Given the description of an element on the screen output the (x, y) to click on. 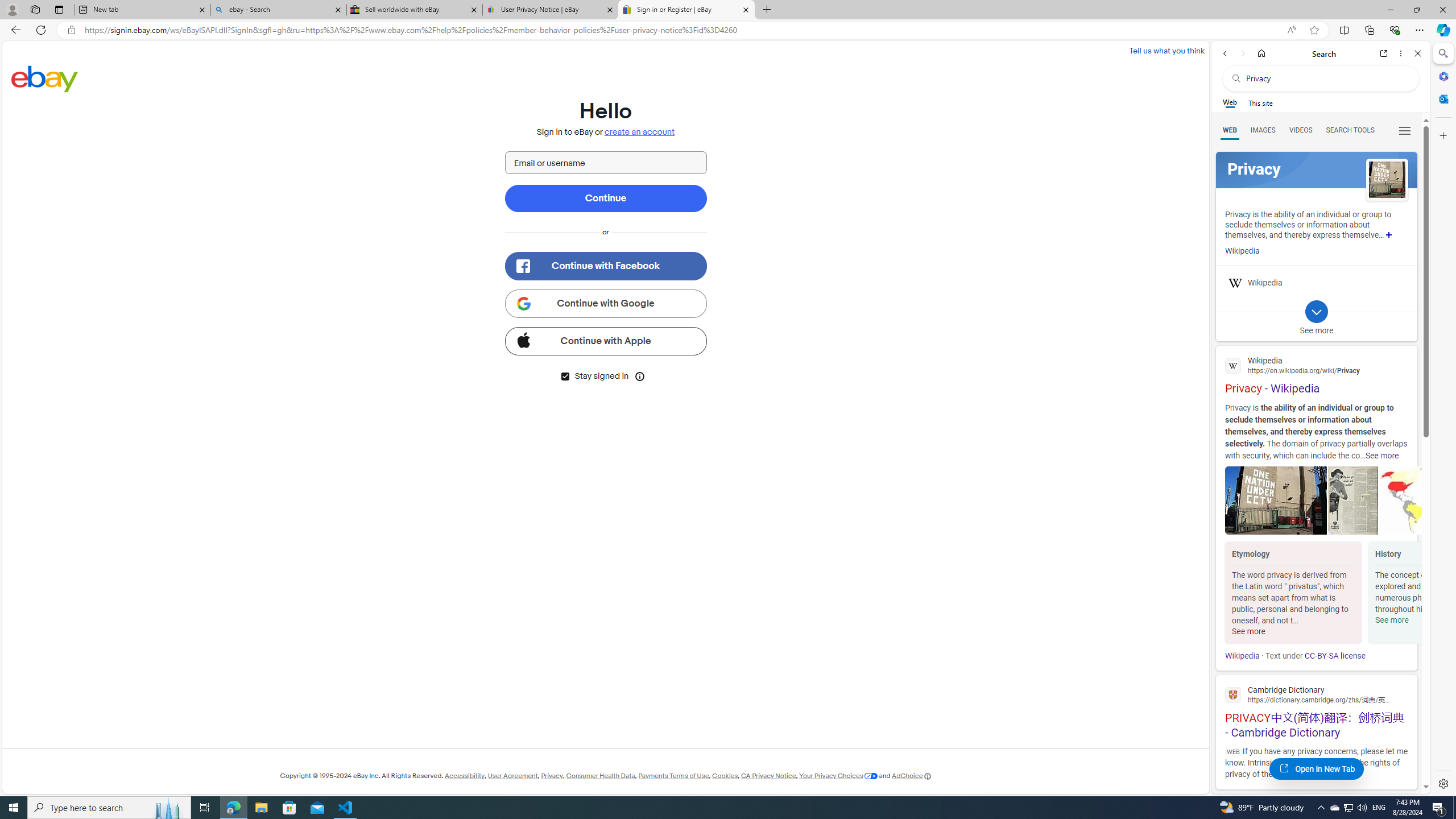
SEARCH TOOLS (1350, 130)
This site scope (1259, 102)
Continue with Apple (605, 340)
Tell us what you think - Link opens in a new window (1166, 50)
Your Privacy Choices (838, 775)
Class: apple-icon (522, 339)
Global web icon (1232, 694)
Search Filter, WEB (1230, 129)
Email or username (605, 162)
